Given the description of an element on the screen output the (x, y) to click on. 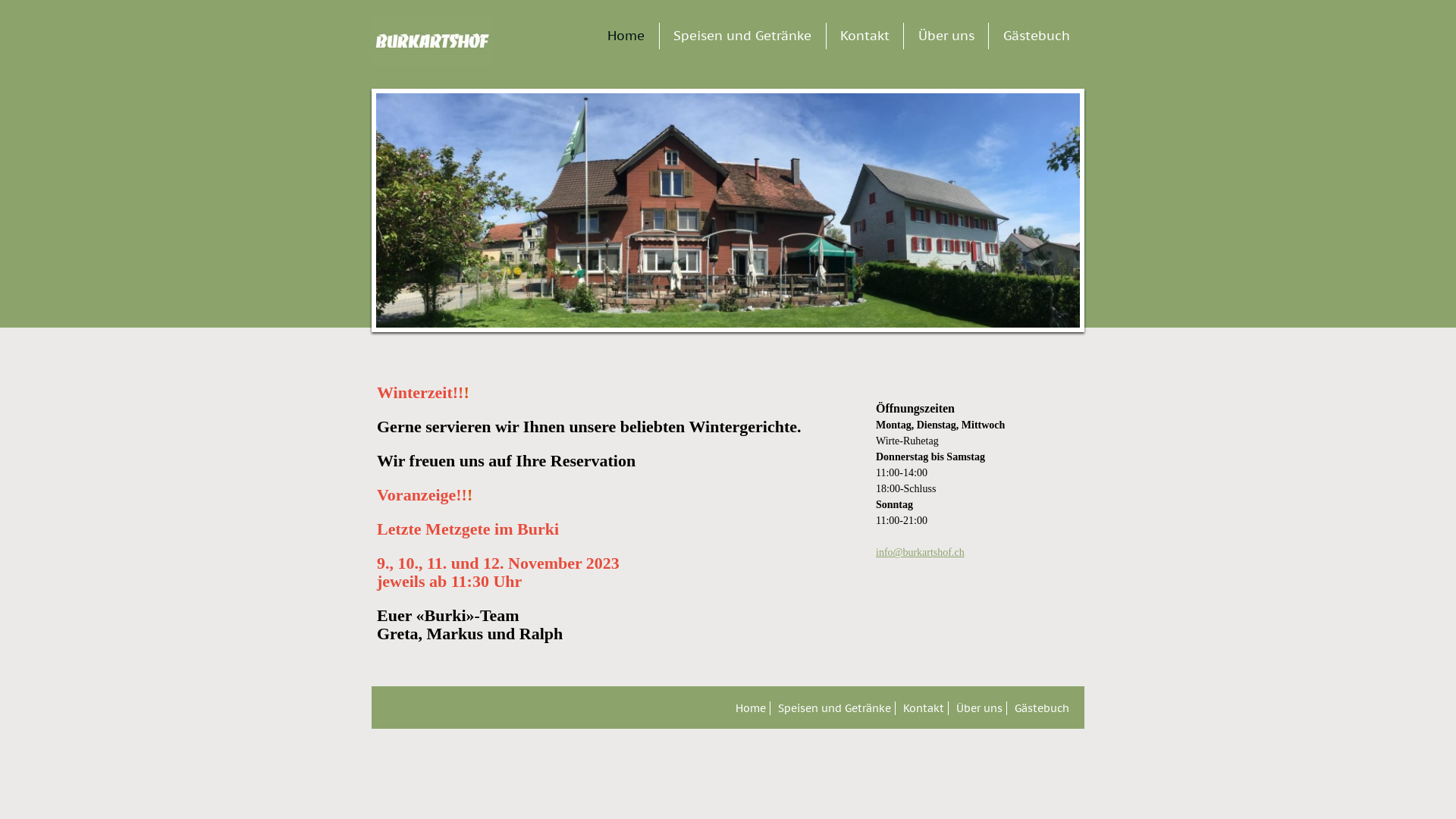
Kontakt Element type: text (925, 708)
Home Element type: text (752, 708)
Kontakt Element type: text (864, 35)
Home Element type: text (625, 35)
info@burkartshof.ch Element type: text (919, 552)
